Given the description of an element on the screen output the (x, y) to click on. 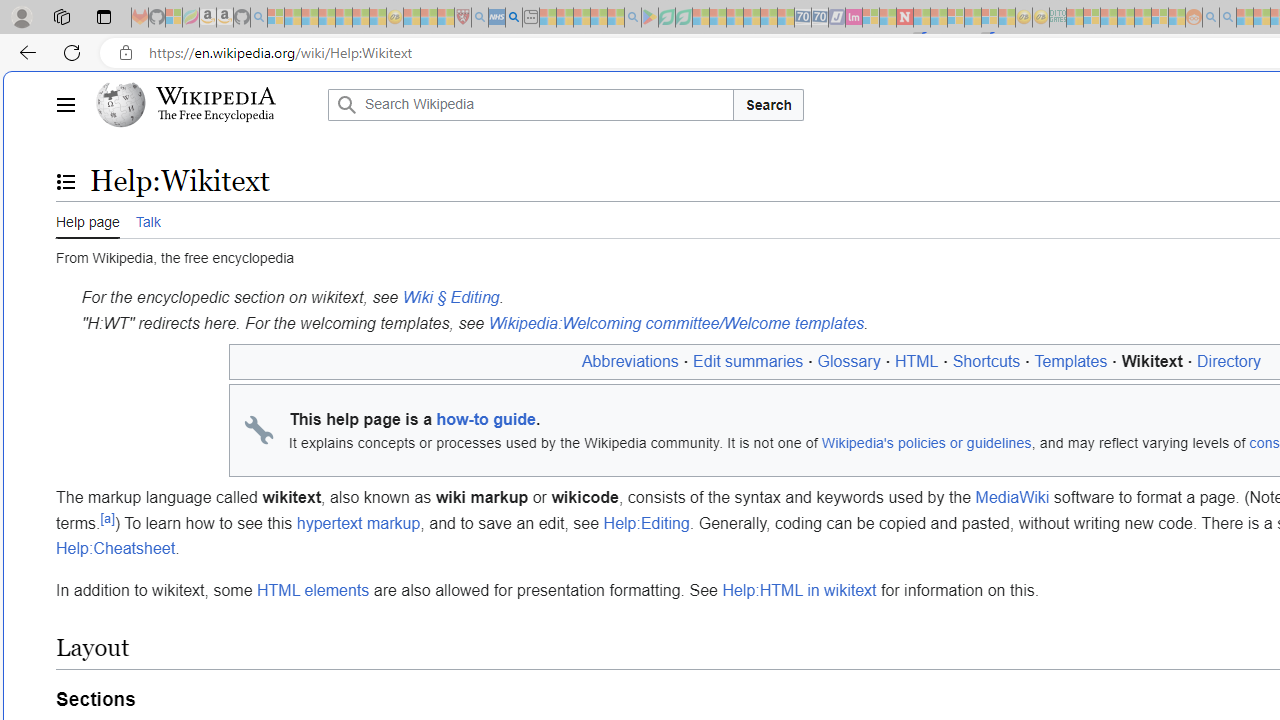
Local - MSN - Sleeping (445, 17)
Main menu (65, 104)
MediaWiki (1012, 497)
The Weather Channel - MSN - Sleeping (309, 17)
Search Wikipedia (530, 104)
Shortcuts (986, 361)
Wikipedia (216, 96)
Utah sues federal government - Search - Sleeping (1227, 17)
Jobs - lastminute.com Investor Portal - Sleeping (853, 17)
Help page (88, 219)
